Given the description of an element on the screen output the (x, y) to click on. 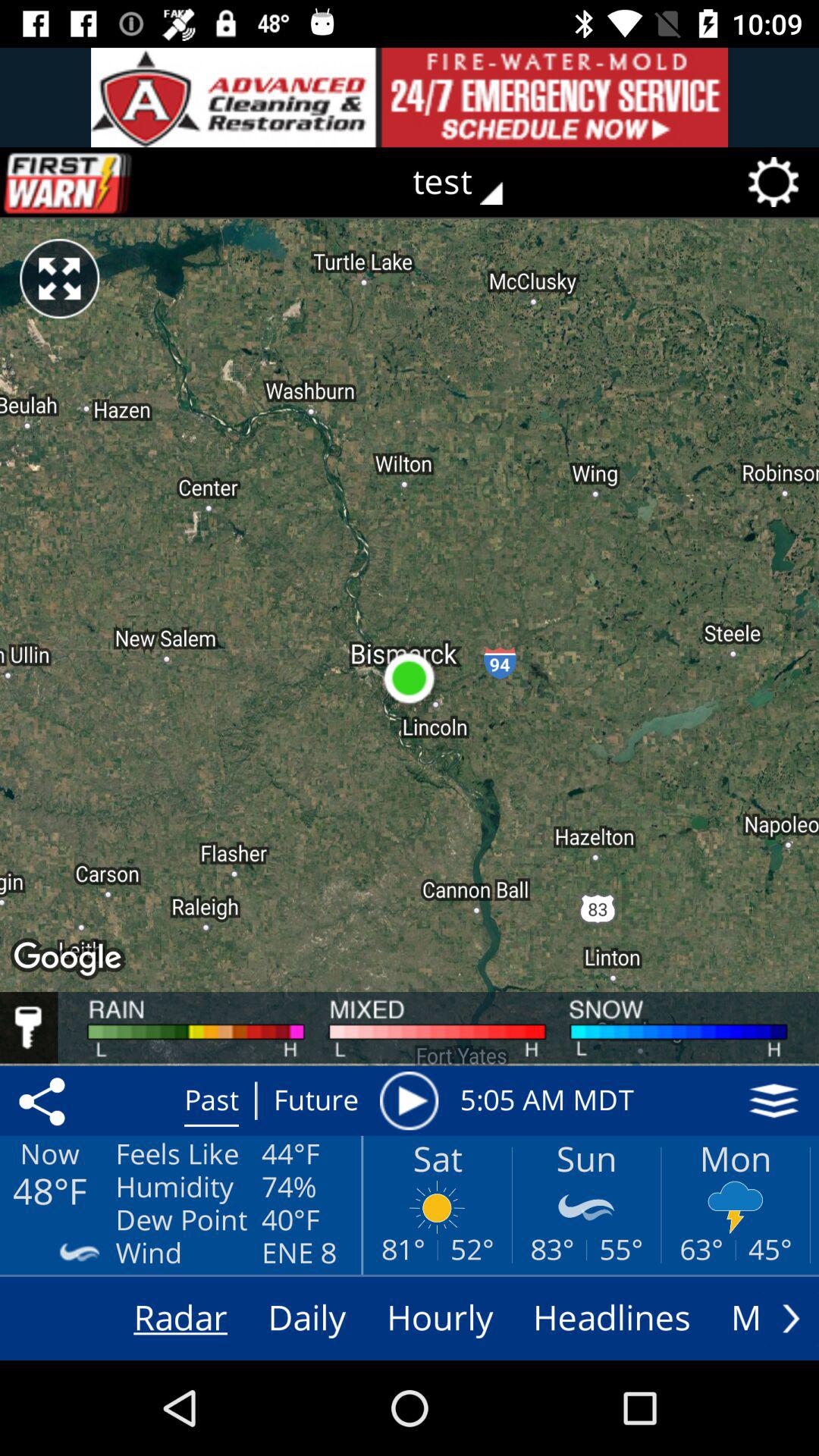
play timeline animation (409, 1100)
